Given the description of an element on the screen output the (x, y) to click on. 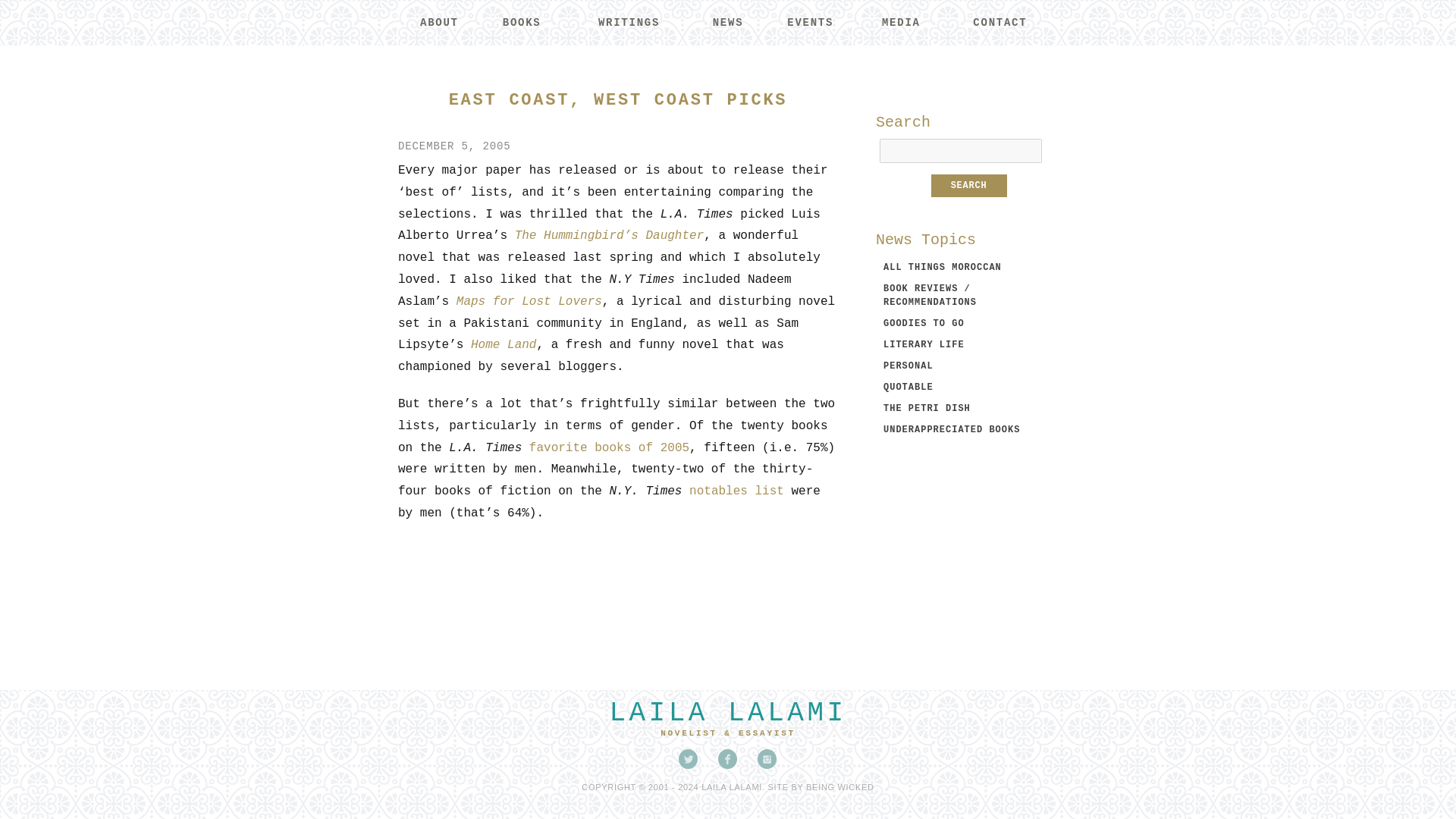
EVENTS (810, 22)
LITERARY LIFE (923, 344)
GOODIES TO GO (923, 323)
LAILA LALAMI (726, 712)
favorite books of 2005 (608, 448)
Twitter (688, 759)
WRITINGS (628, 22)
UNDERAPPRECIATED BOOKS (951, 429)
PERSONAL (908, 366)
CONTACT (1000, 22)
